Given the description of an element on the screen output the (x, y) to click on. 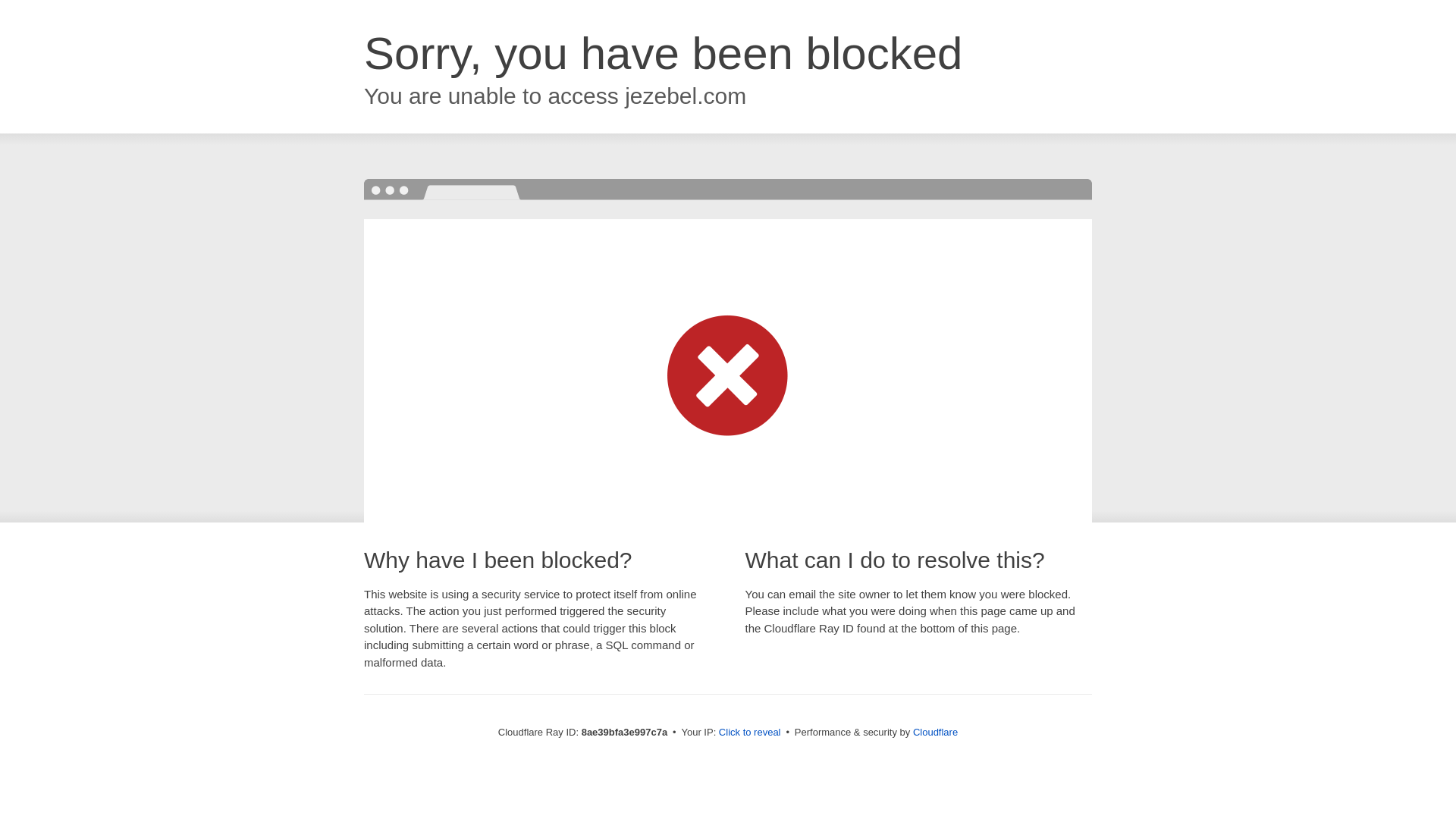
Click to reveal (749, 732)
Cloudflare (935, 731)
